Given the description of an element on the screen output the (x, y) to click on. 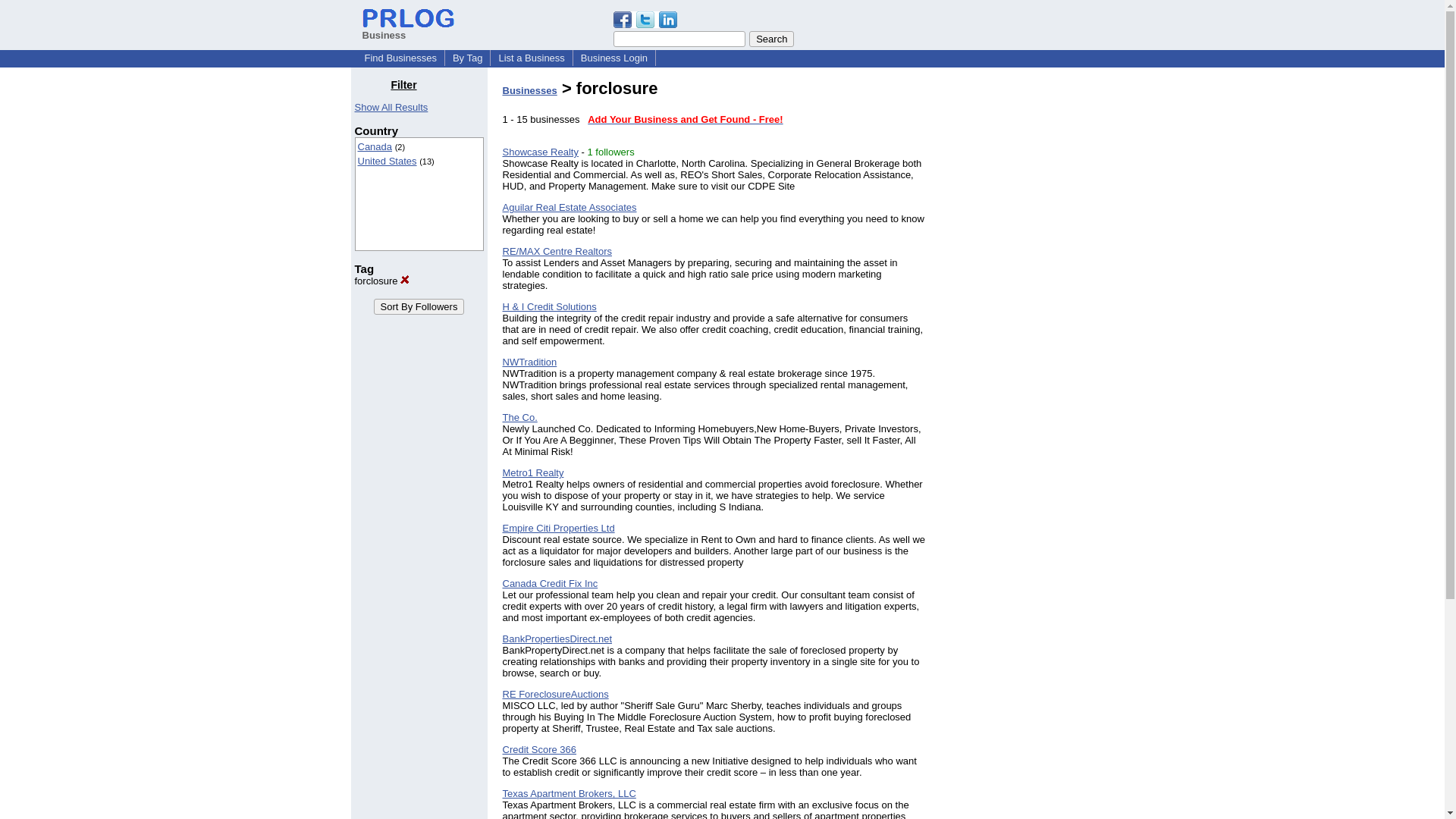
Find Businesses (400, 57)
Credit Score 366 (539, 749)
Business (408, 29)
Texas Apartment Brokers, LLC (568, 793)
Click to see the index with all filters cleared (391, 107)
The Co. (519, 417)
United States (387, 161)
NWTradition (529, 361)
Share this page! (644, 24)
Click to remove this filter (382, 280)
